Given the description of an element on the screen output the (x, y) to click on. 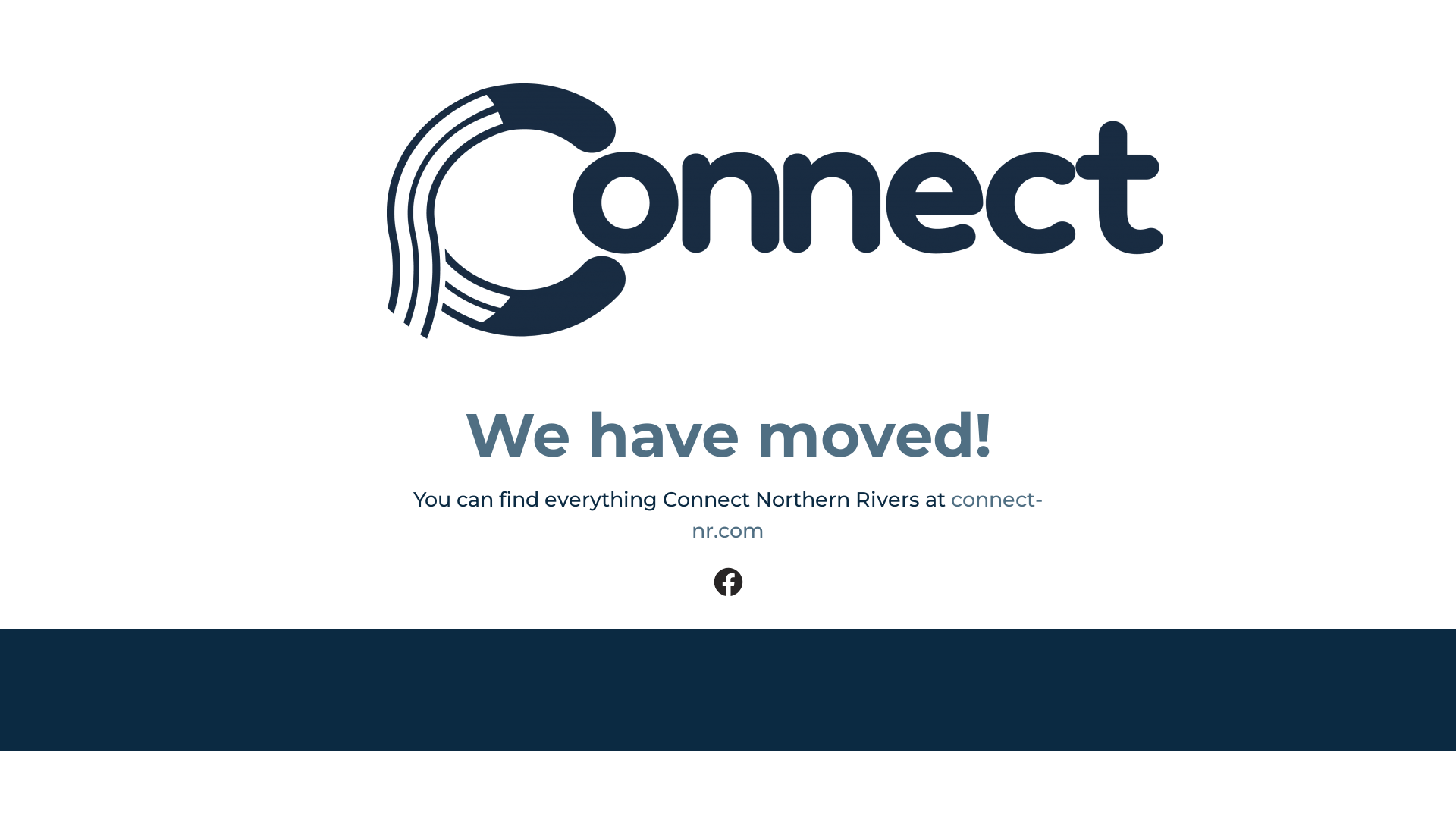
connect-nr.com Element type: text (866, 514)
